Given the description of an element on the screen output the (x, y) to click on. 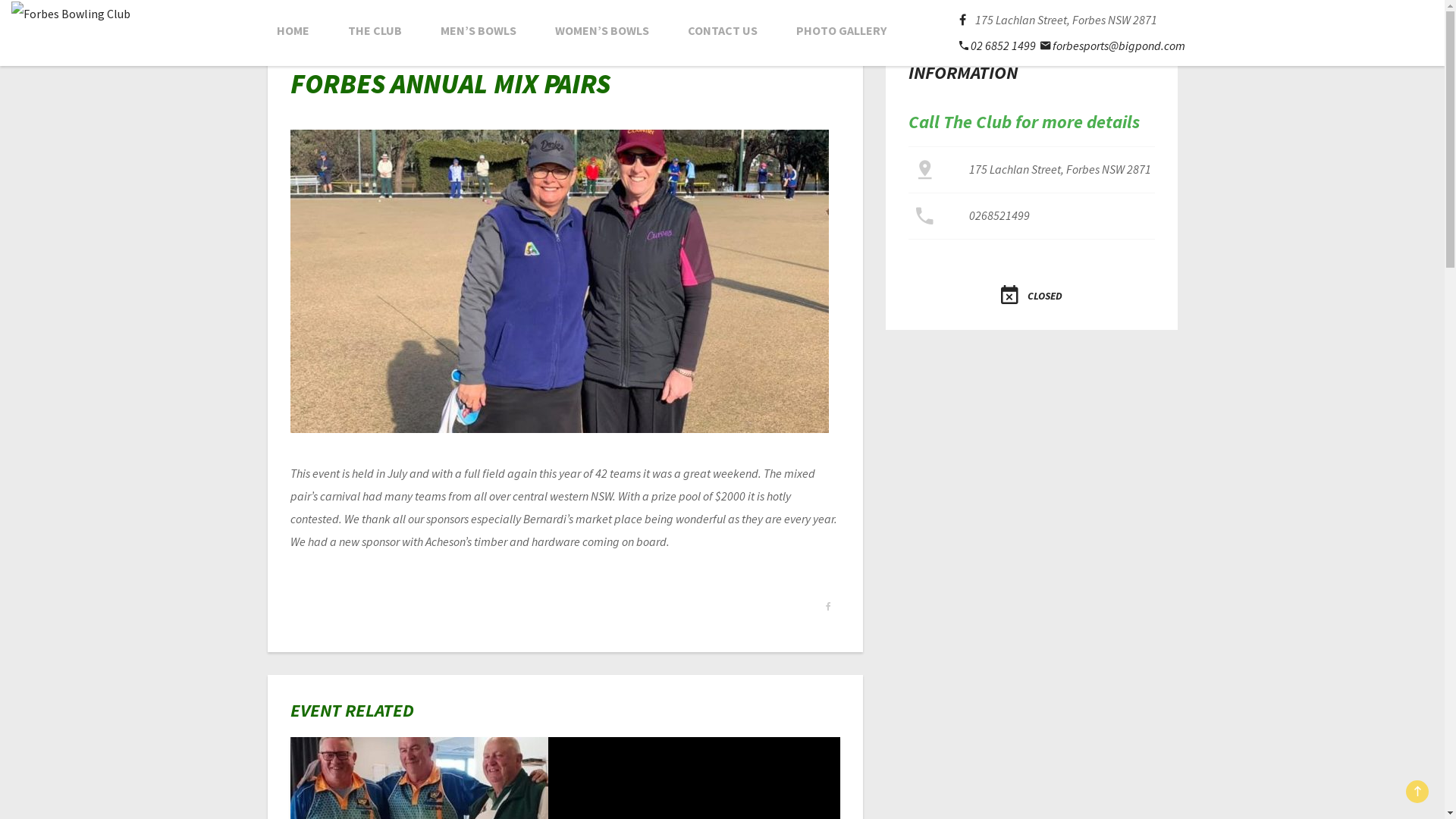
forbesports@bigpond.com Element type: text (1112, 45)
THE CLUB Element type: text (374, 29)
CONTACT US Element type: text (722, 29)
HOME Element type: text (292, 29)
02 6852 1499 Element type: text (997, 45)
PHOTO GALLERY Element type: text (841, 29)
    Element type: text (967, 19)
